Given the description of an element on the screen output the (x, y) to click on. 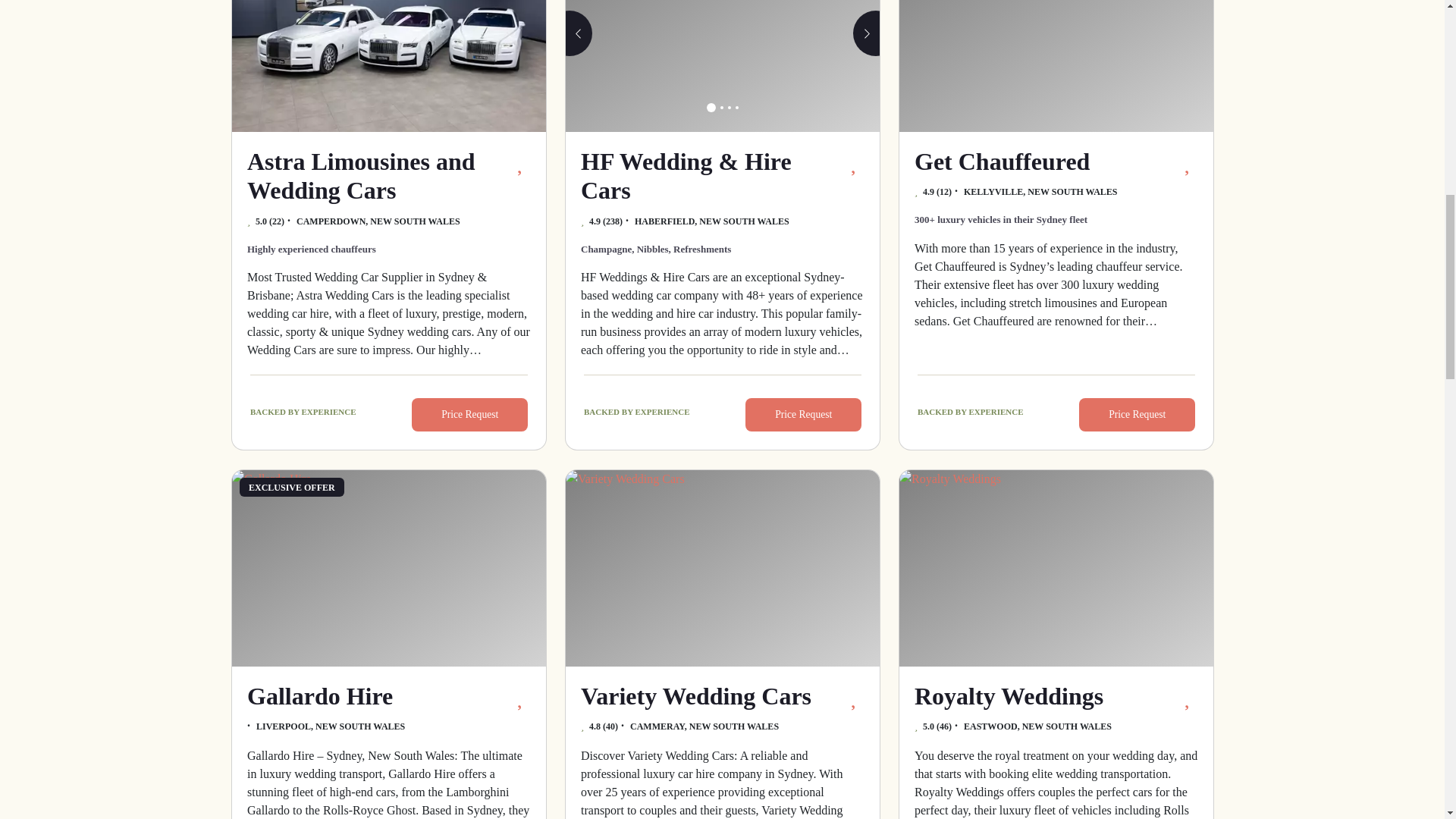
Variety Wedding Cars (722, 568)
Get Chauffeured (1055, 65)
Astra Limousines and Wedding Cars (388, 65)
Gallardo Hire (388, 568)
Royalty Weddings (1055, 568)
